Given the description of an element on the screen output the (x, y) to click on. 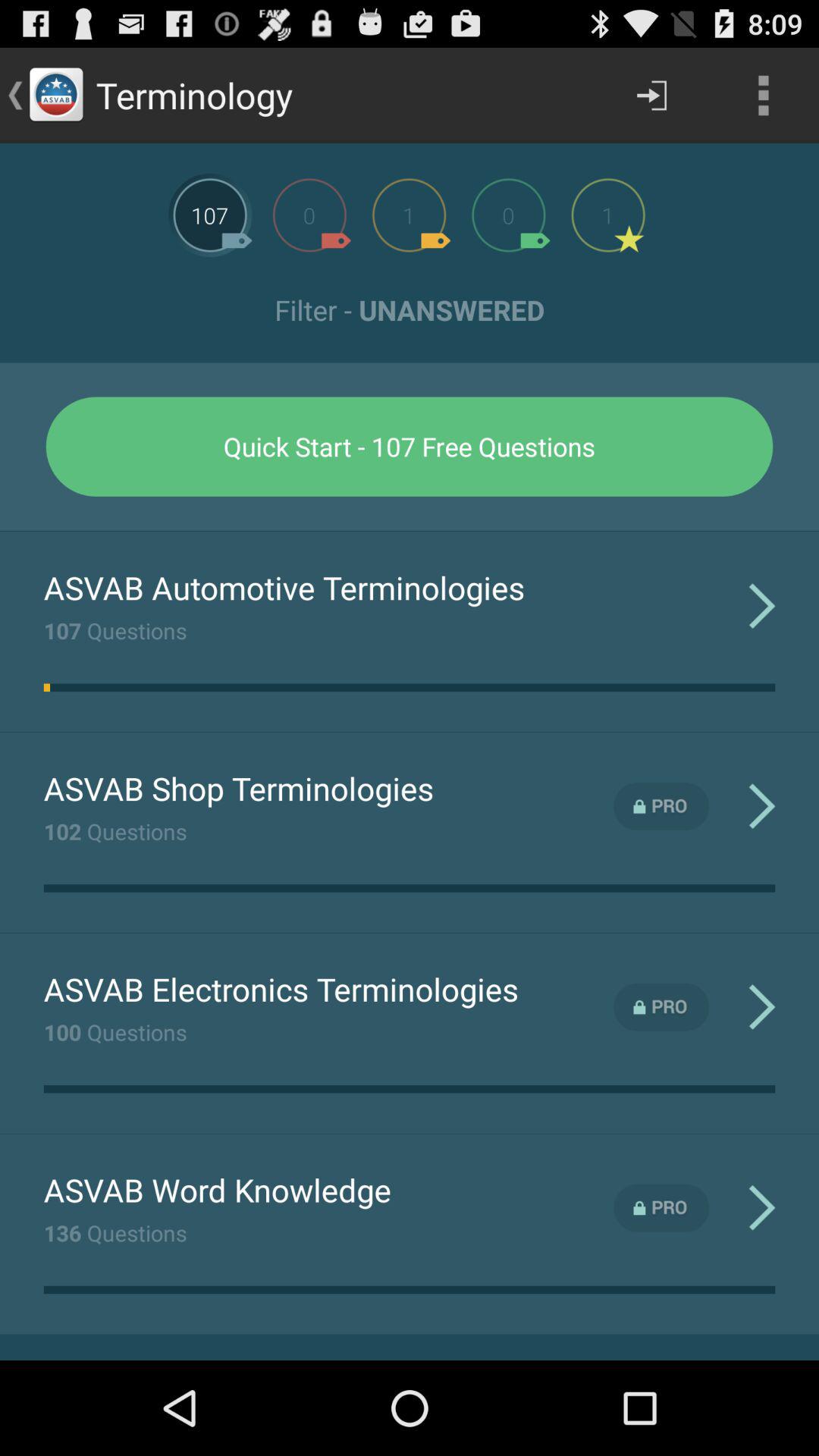
jump until the 102 questions item (115, 831)
